Given the description of an element on the screen output the (x, y) to click on. 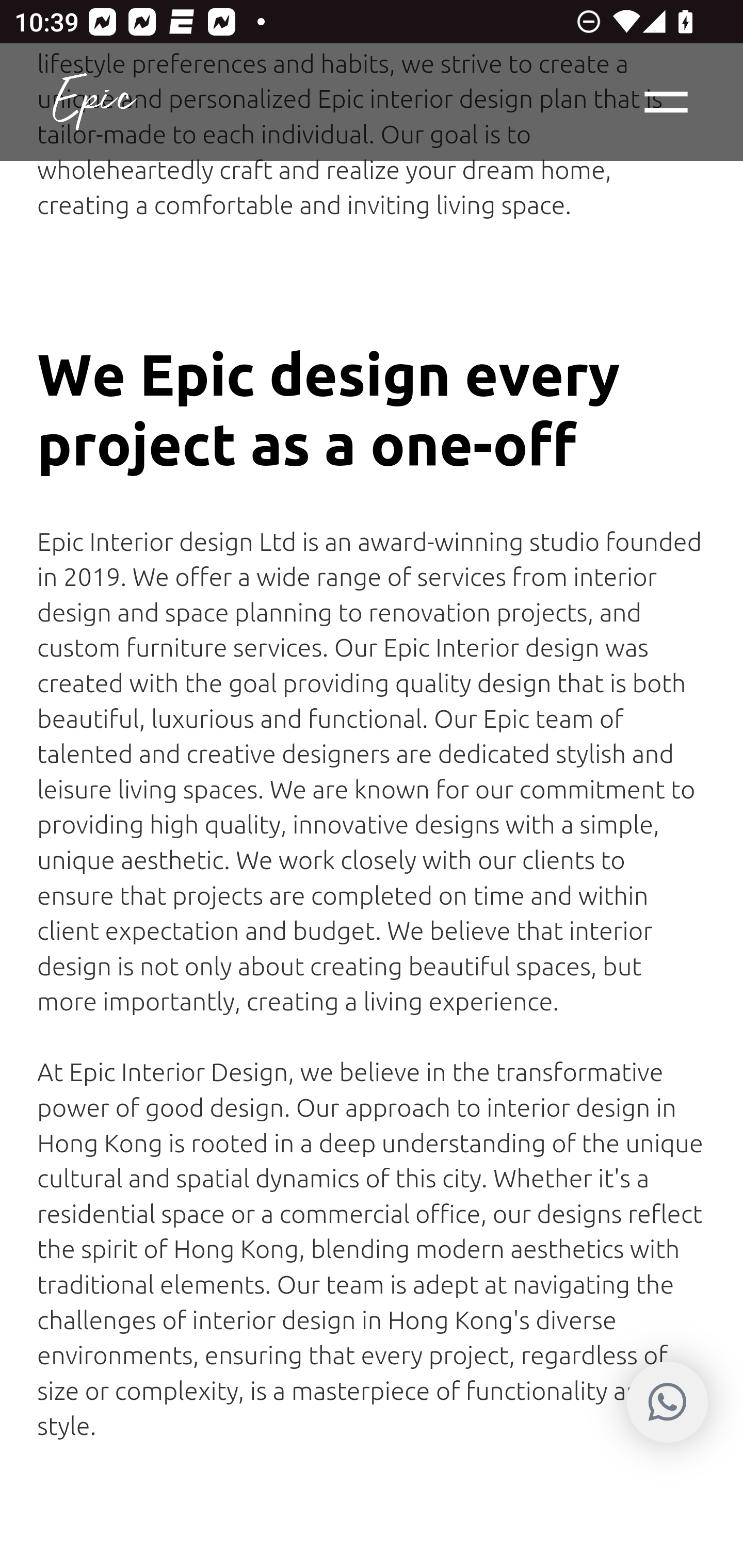
en (94, 103)
menu (666, 103)
85297019887 (666, 1402)
